Given the description of an element on the screen output the (x, y) to click on. 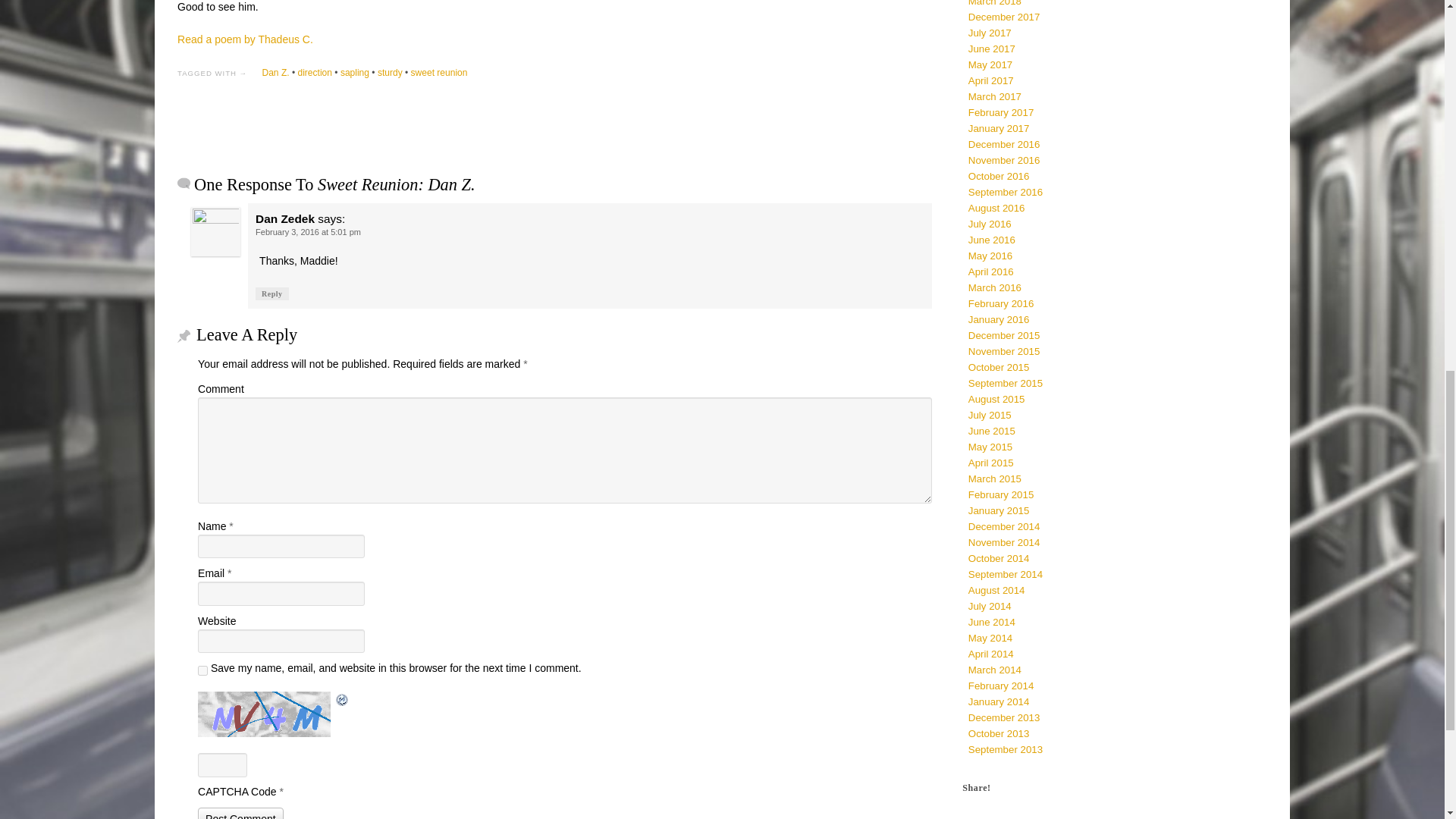
yes (203, 670)
CAPTCHA Image (266, 714)
Read a poem by Thadeus C. (245, 39)
February 3, 2016 at 5:01 pm (308, 231)
sweet reunion (438, 72)
Post Comment (240, 813)
Dan Z. (275, 72)
Refresh Image (342, 698)
Reply (272, 293)
sapling (354, 72)
sturdy (390, 72)
direction (314, 72)
Post Comment (240, 813)
